Given the description of an element on the screen output the (x, y) to click on. 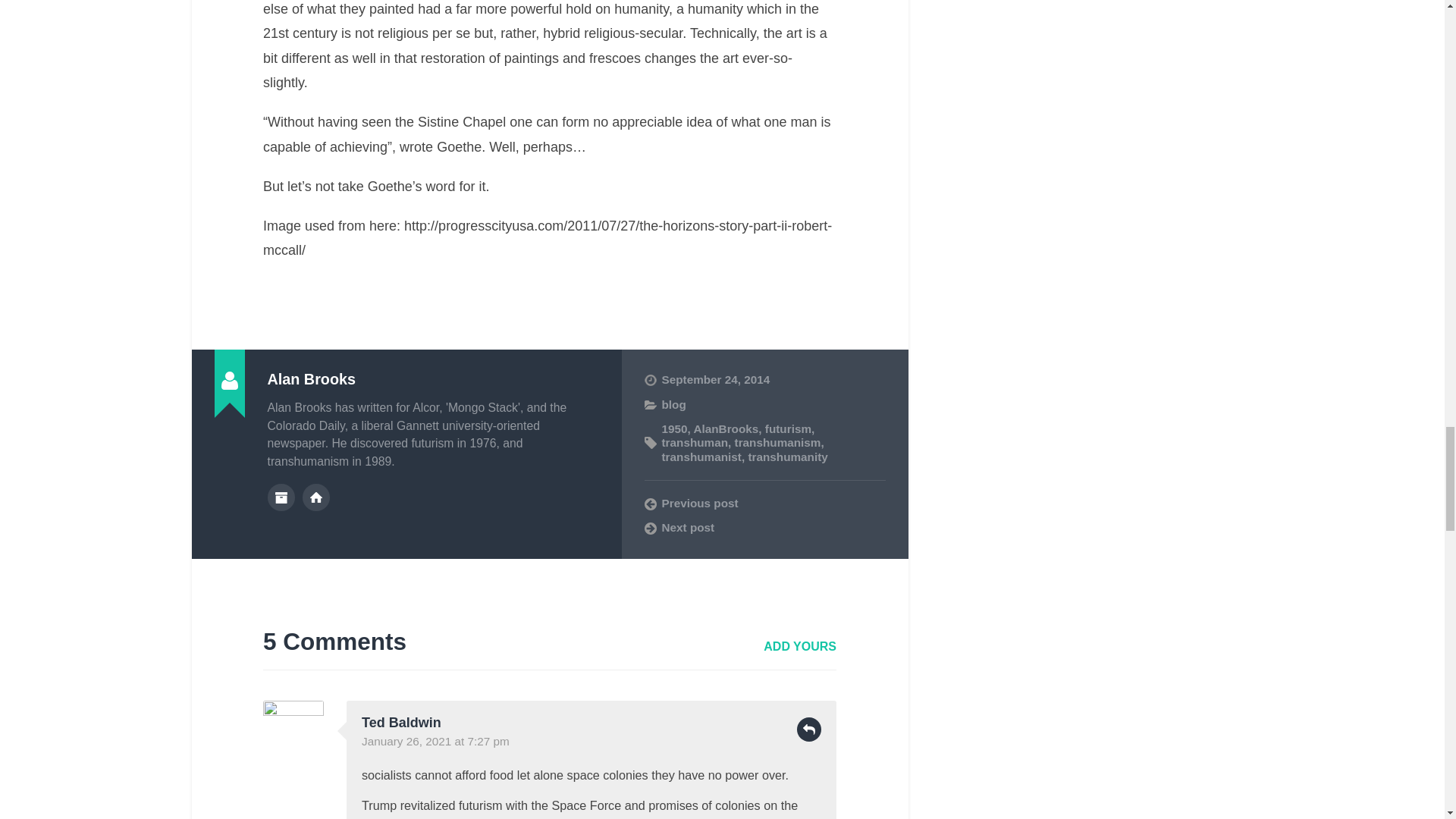
blog (673, 404)
1950 (674, 428)
transhumanism (778, 441)
transhumanity (787, 456)
Next post (765, 527)
Author website (316, 497)
AlanBrooks (725, 428)
transhuman (694, 441)
January 26, 2021 at 7:27 pm (435, 740)
Reply (808, 729)
